Given the description of an element on the screen output the (x, y) to click on. 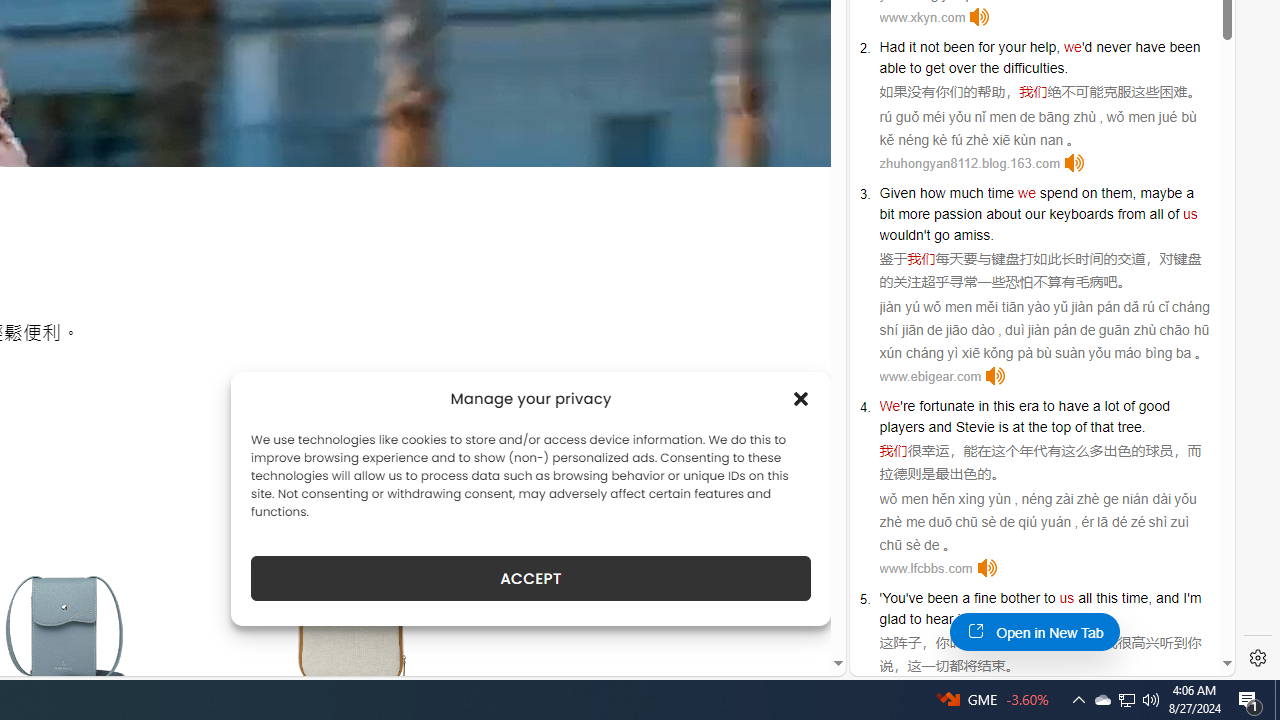
We (890, 405)
a (966, 597)
a bit (1036, 203)
never (1113, 46)
keyboards (1081, 213)
on (1089, 192)
. (1060, 619)
in (983, 405)
'm (1193, 597)
Class: cmplz-close (801, 398)
difficulties (1033, 67)
